Given the description of an element on the screen output the (x, y) to click on. 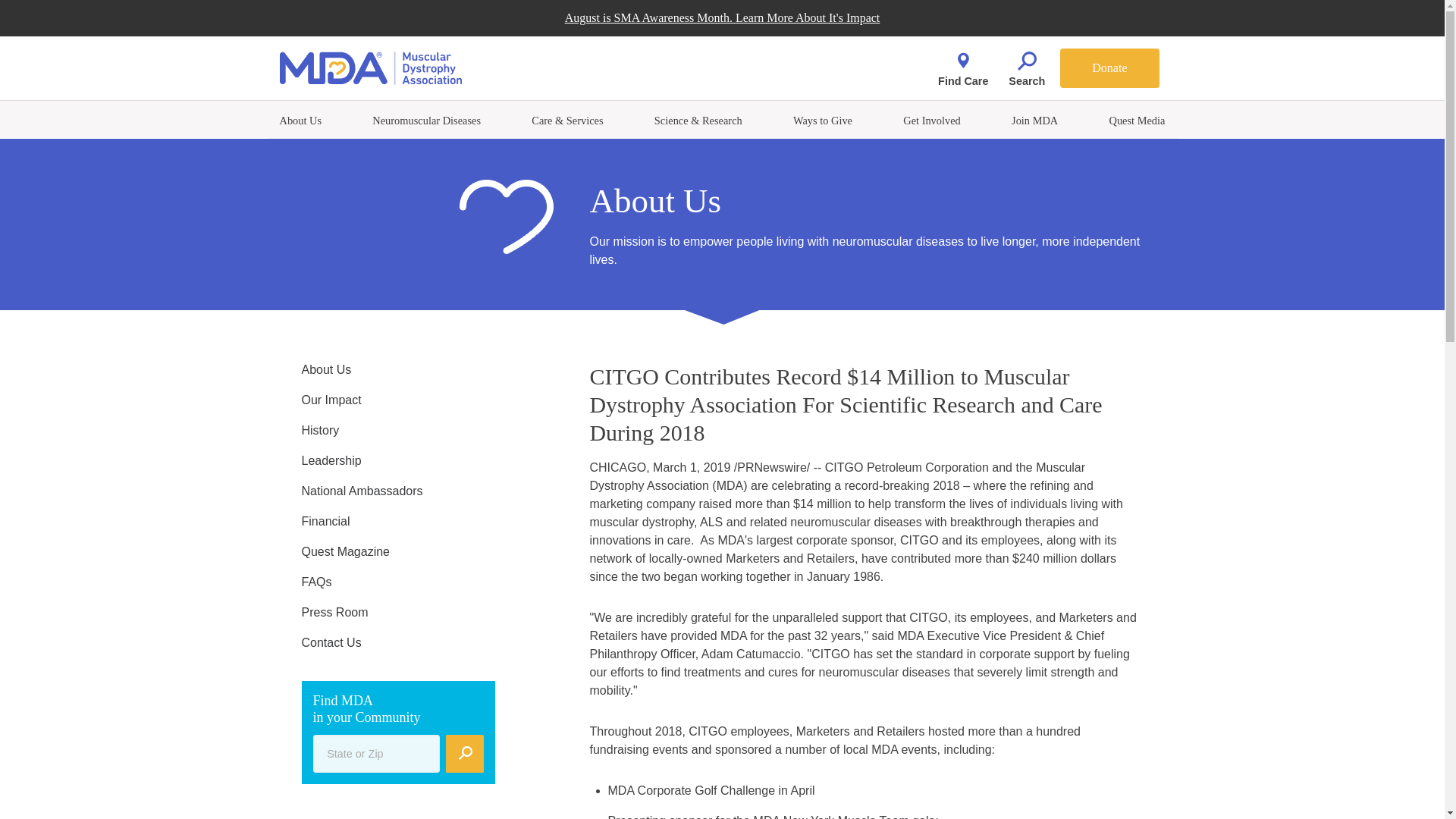
August is SMA Awareness Month. Learn More About It's Impact (722, 17)
About Us (300, 120)
Neuromuscular Diseases (426, 120)
